Given the description of an element on the screen output the (x, y) to click on. 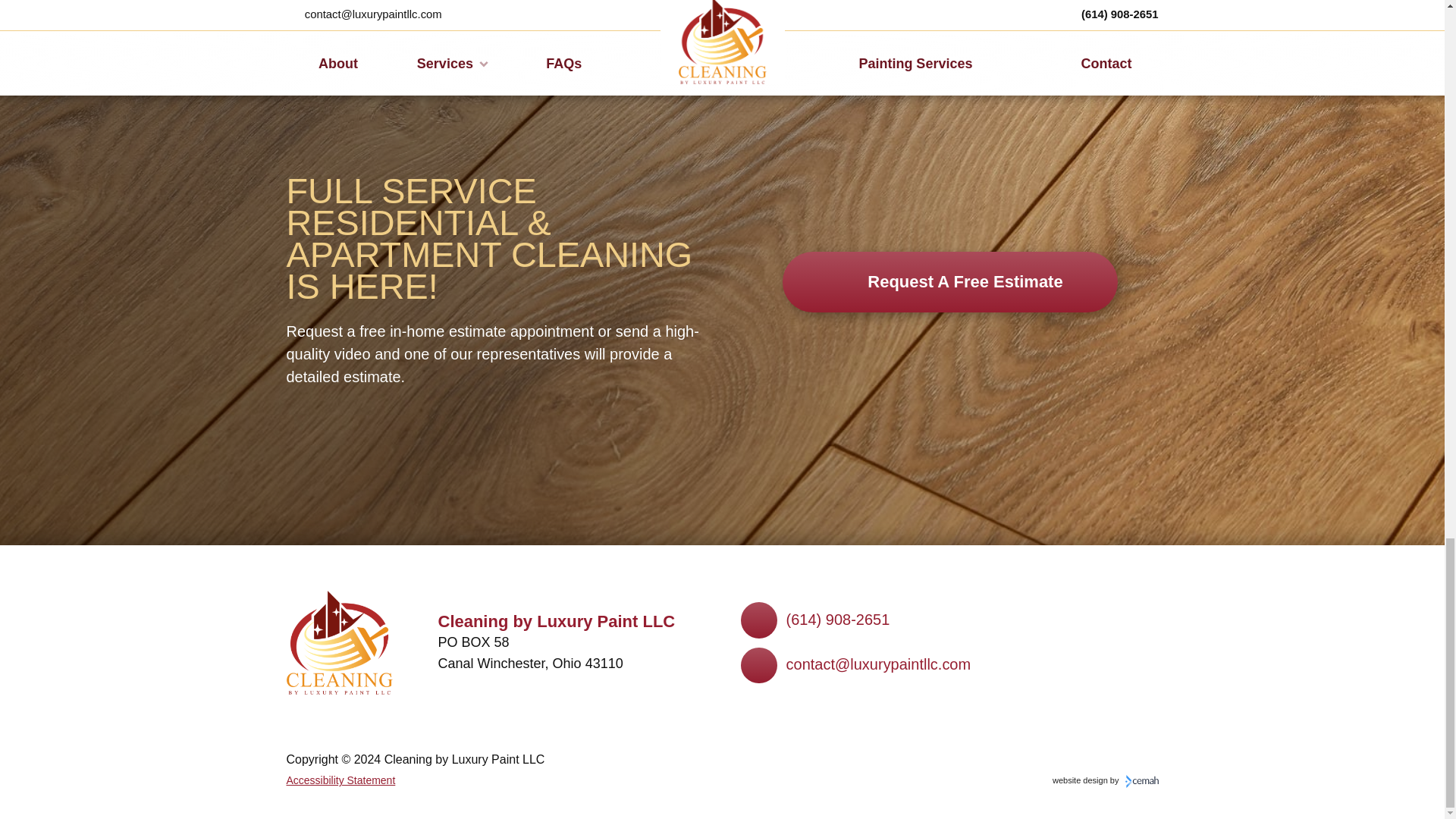
Accessibility Statement (341, 780)
Go to Homepage (339, 641)
Request A Free Estimate (1105, 780)
Visit Cemah Creative LLC's website (950, 281)
